Given the description of an element on the screen output the (x, y) to click on. 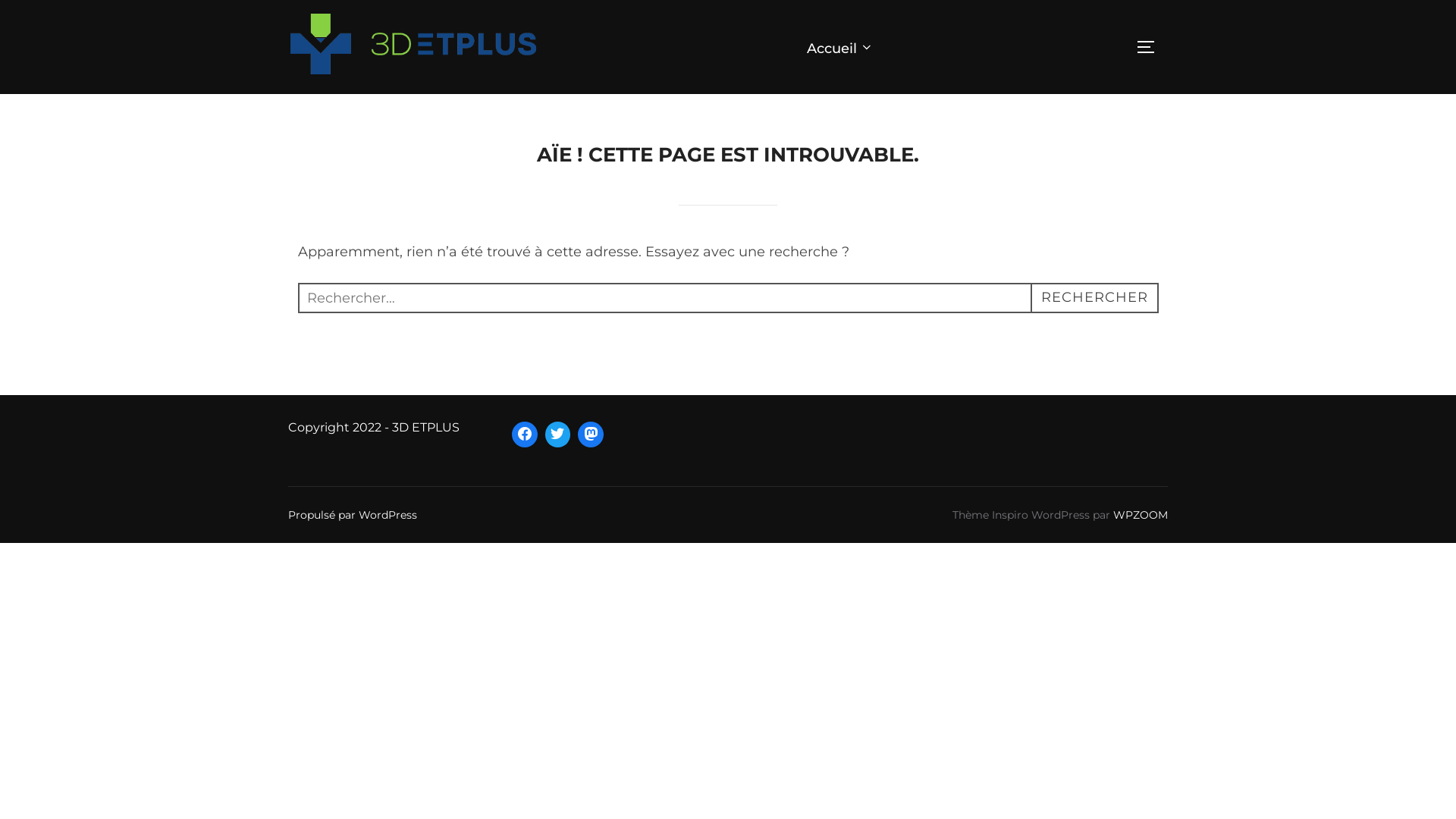
Facebook Element type: hover (524, 434)
Mastodon Element type: hover (590, 434)
RECHERCHER Element type: text (1093, 297)
Accueil Element type: text (840, 46)
WPZOOM Element type: text (1140, 514)
Twitter Element type: hover (557, 434)
